Given the description of an element on the screen output the (x, y) to click on. 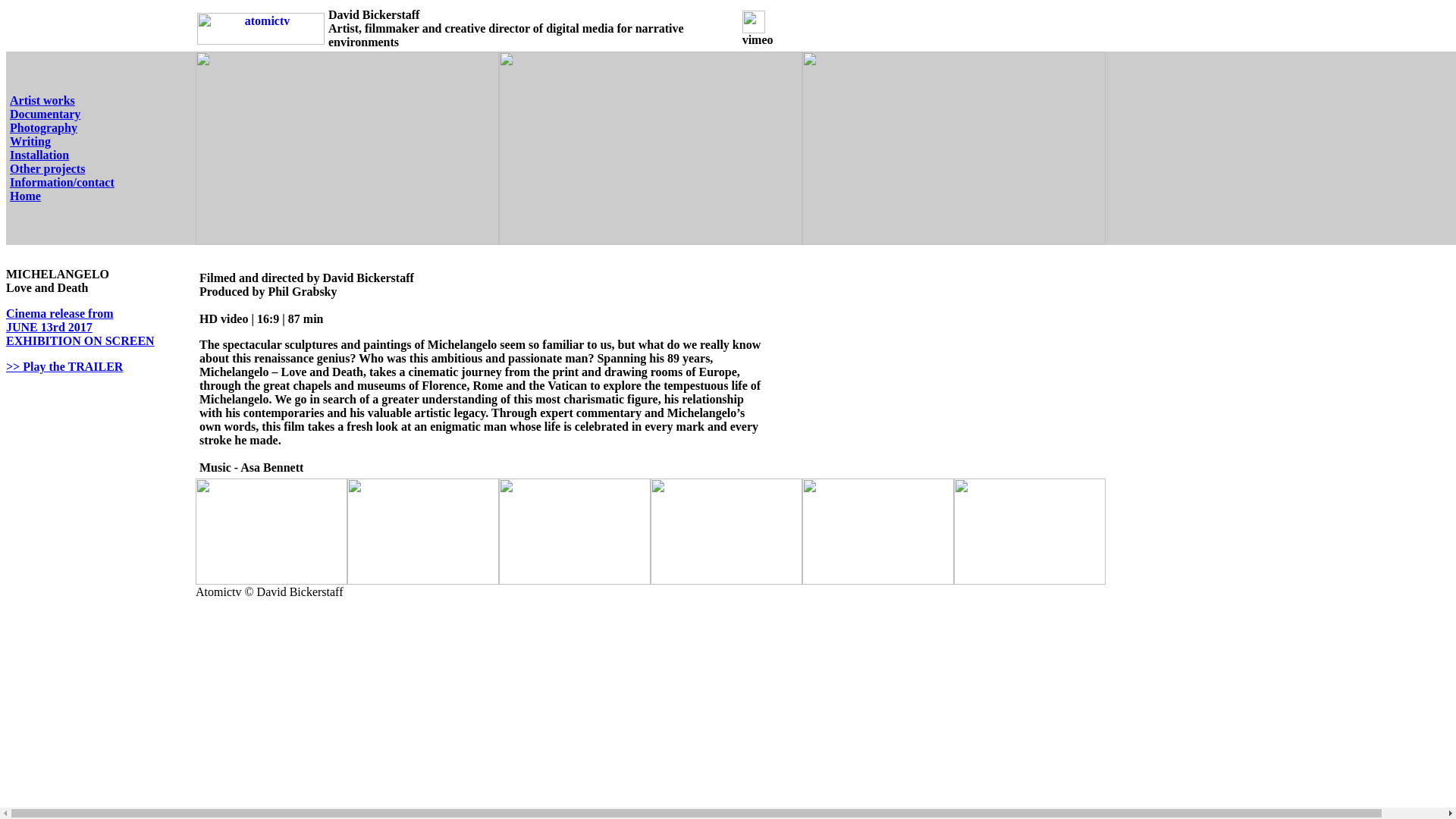
Documentary (45, 113)
Writing (43, 148)
The Bickering Staff (43, 148)
Photography (43, 127)
Installation (39, 154)
Cinema release from (59, 313)
Artist works (42, 100)
Photography (43, 127)
Other projects (47, 168)
Home (25, 195)
